Given the description of an element on the screen output the (x, y) to click on. 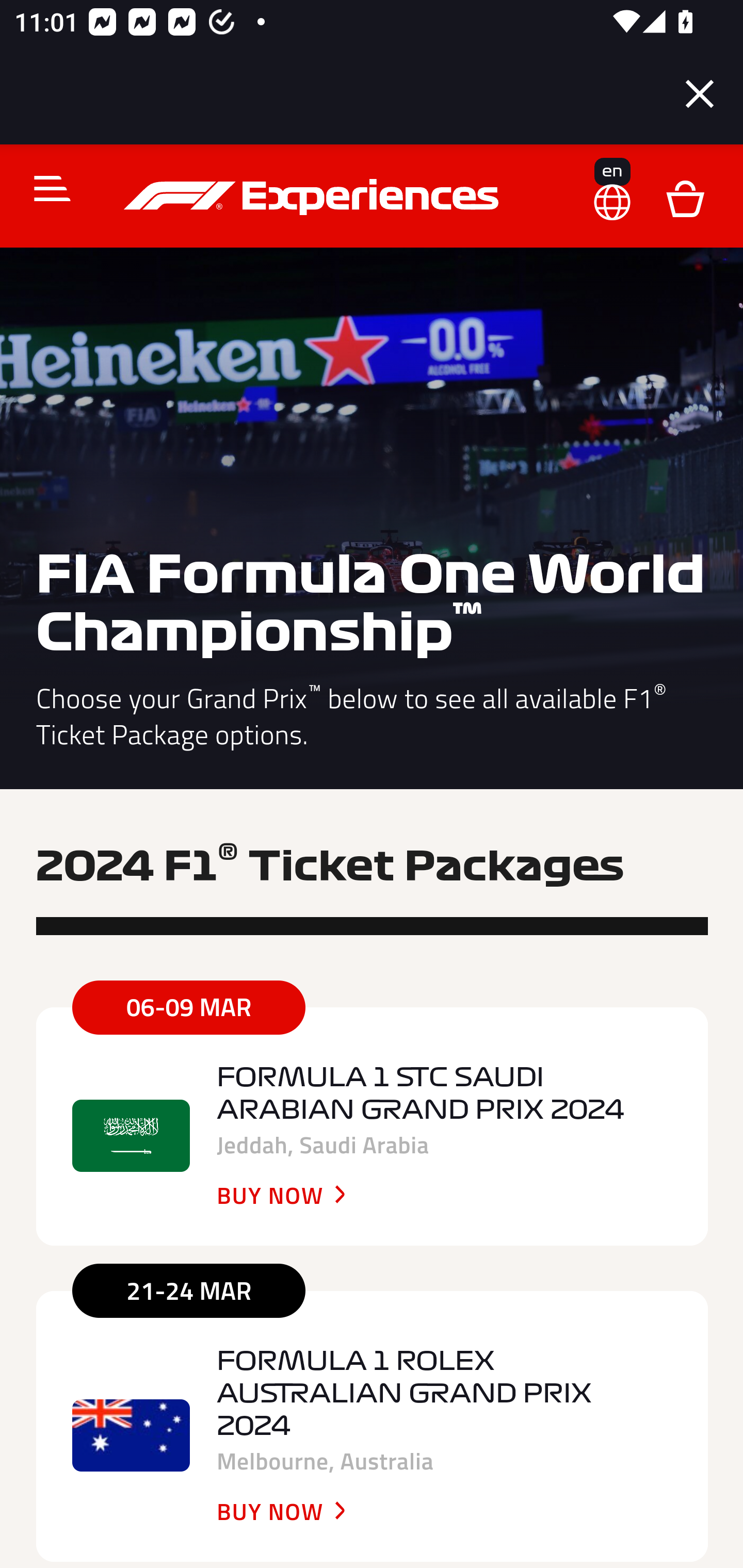
Close (699, 93)
Toggle navigation C (43, 188)
D (684, 197)
f1experiences (313, 197)
